Given the description of an element on the screen output the (x, y) to click on. 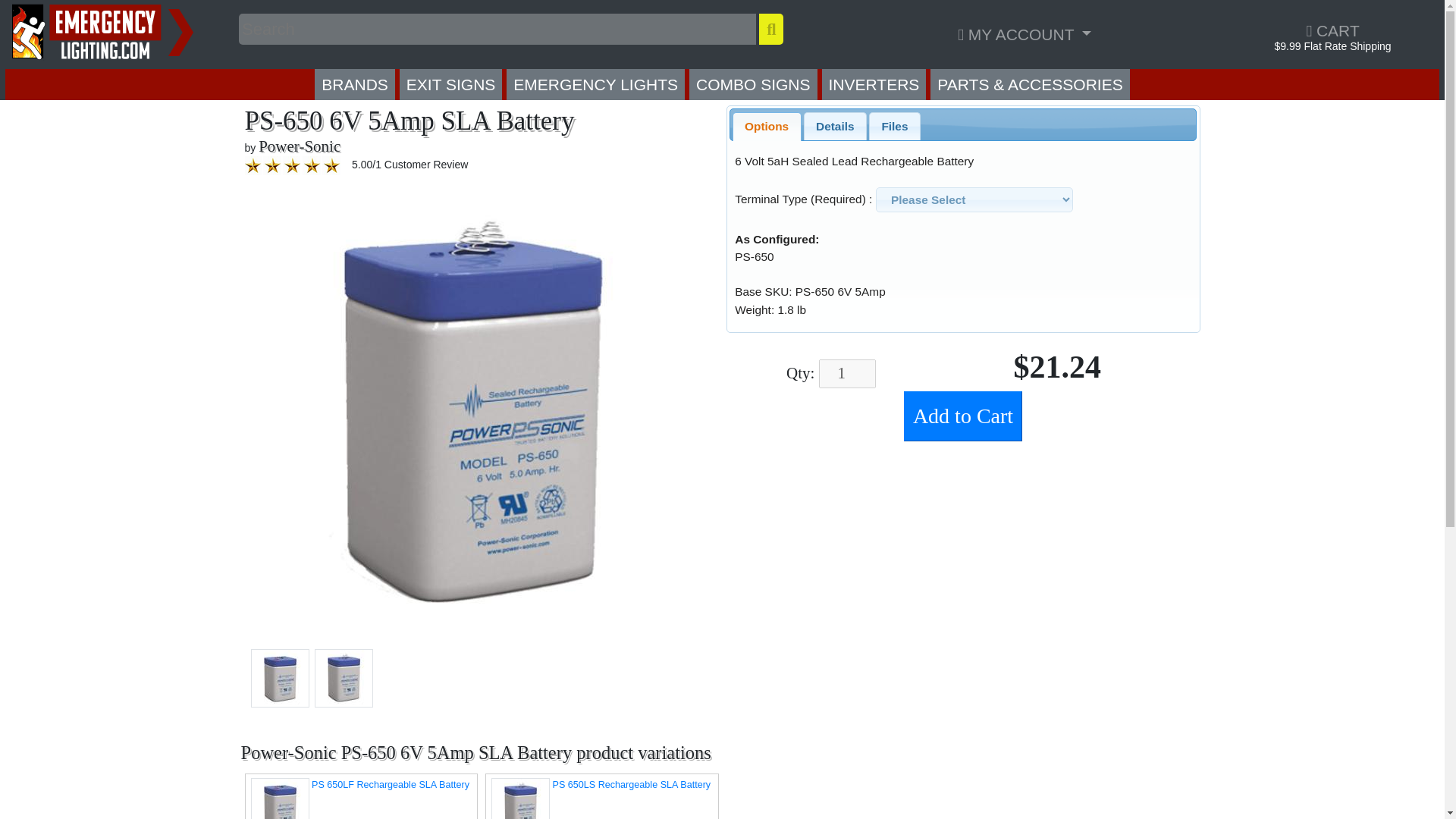
BRANDS (354, 83)
EXIT SIGNS (450, 83)
Add to Cart (963, 416)
 MY ACCOUNT (1024, 33)
 CART (1332, 30)
1 (847, 373)
